Given the description of an element on the screen output the (x, y) to click on. 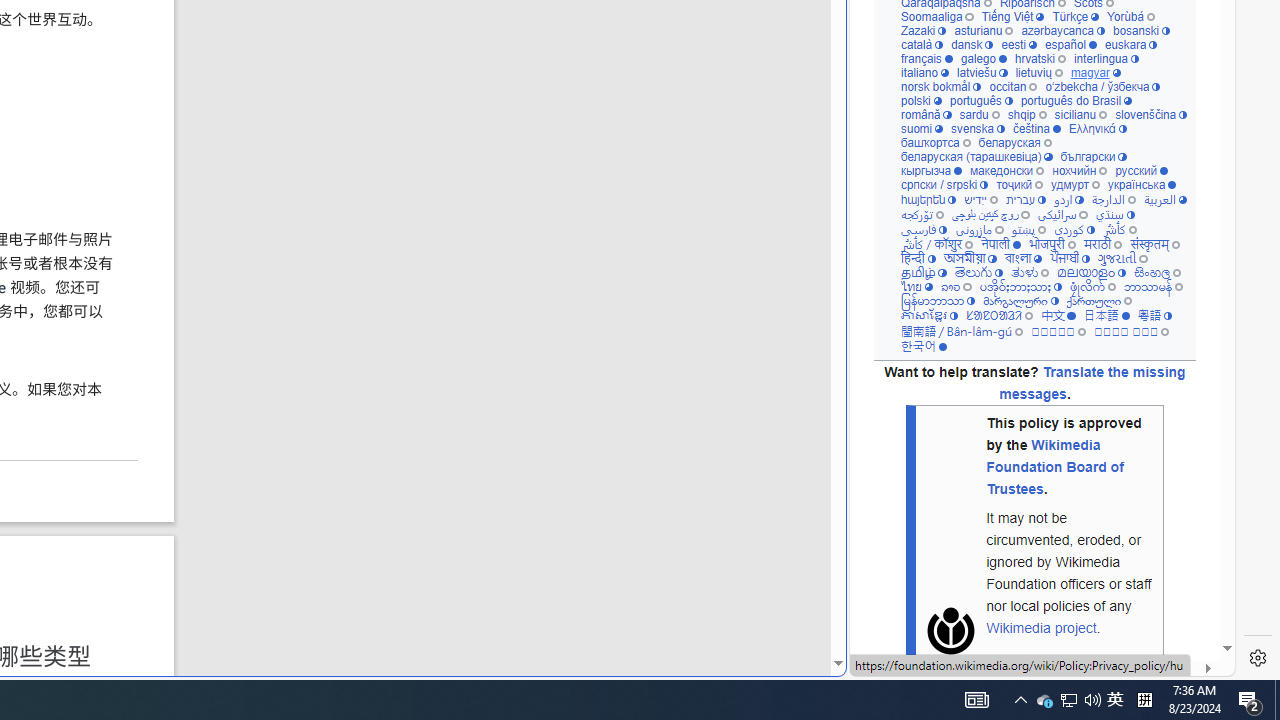
italiano (923, 73)
shqip (1027, 115)
Translate the missing messages (1092, 383)
shqip (1027, 115)
occitan (1013, 87)
